Given the description of an element on the screen output the (x, y) to click on. 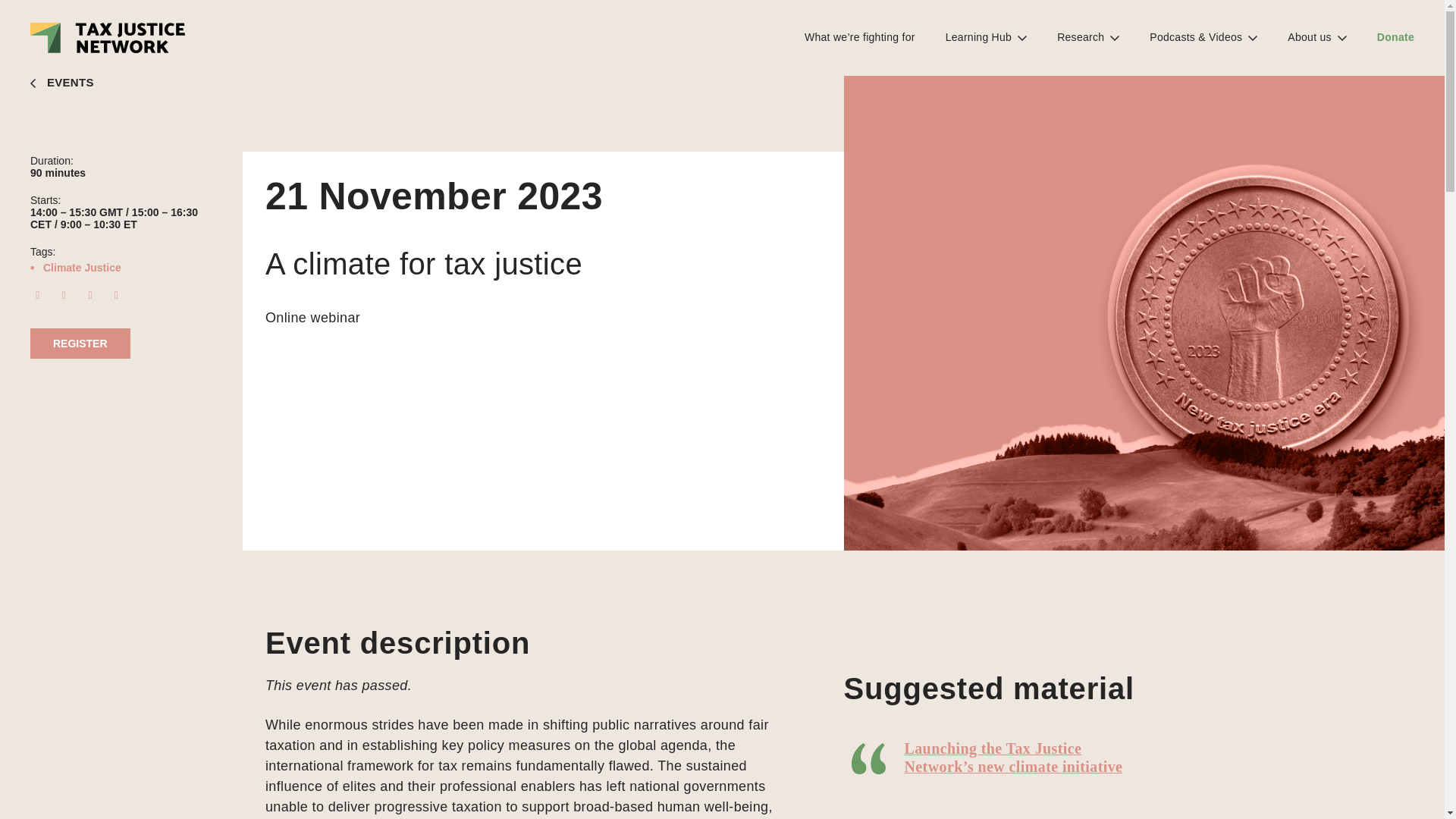
About us (1309, 36)
Research (1080, 36)
Climate Justice (81, 267)
Donate (1395, 36)
REGISTER (80, 343)
EVENTS (121, 83)
Learning Hub (977, 36)
